Given the description of an element on the screen output the (x, y) to click on. 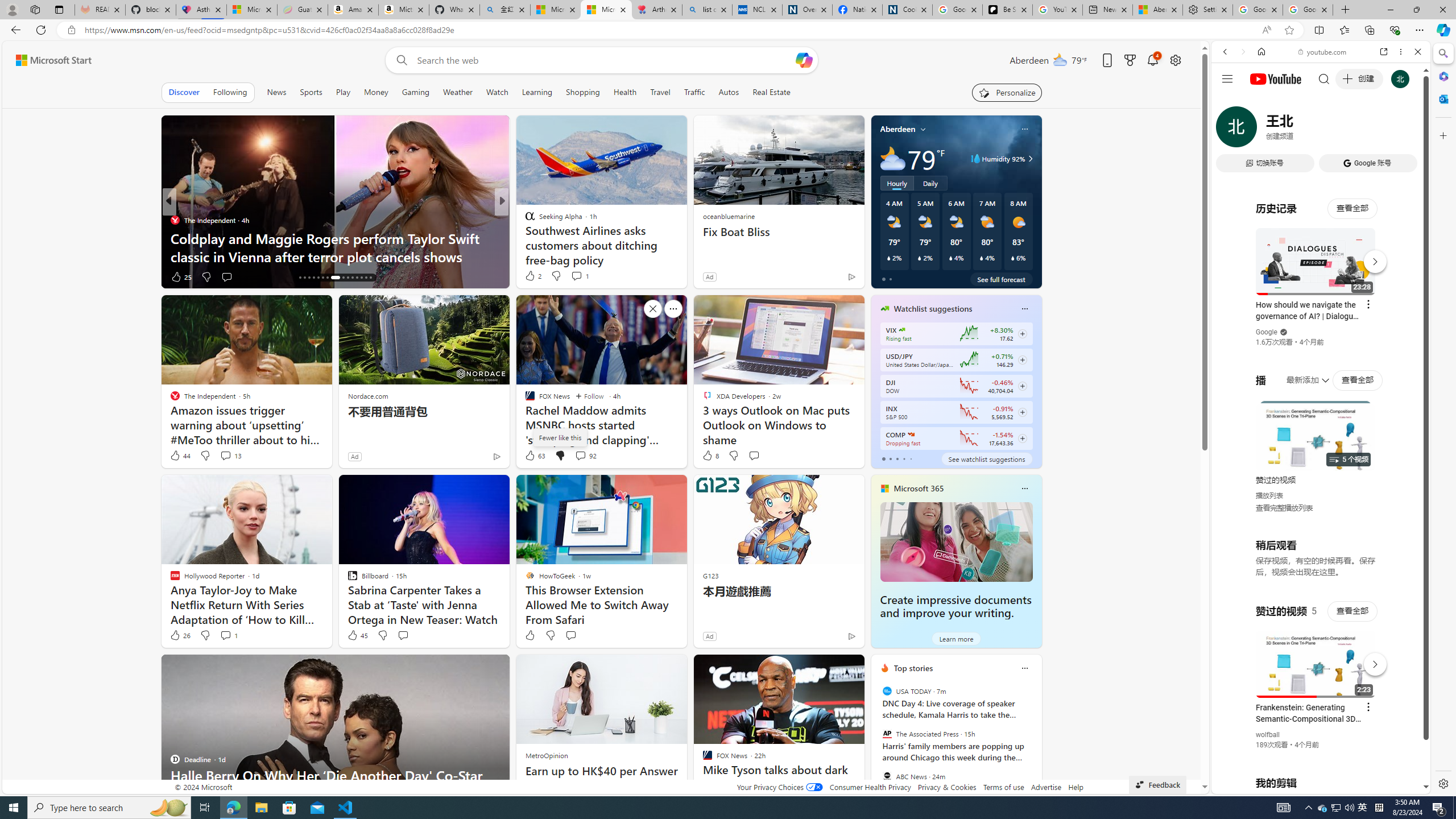
Feedback (1157, 784)
Skip to content (49, 59)
Side bar (1443, 418)
AutomationID: tab-23 (333, 277)
Search Filter, Search Tools (1350, 129)
#you (1315, 659)
16 Like (530, 276)
Following (229, 92)
2 Like (532, 275)
Web search (398, 60)
